Given the description of an element on the screen output the (x, y) to click on. 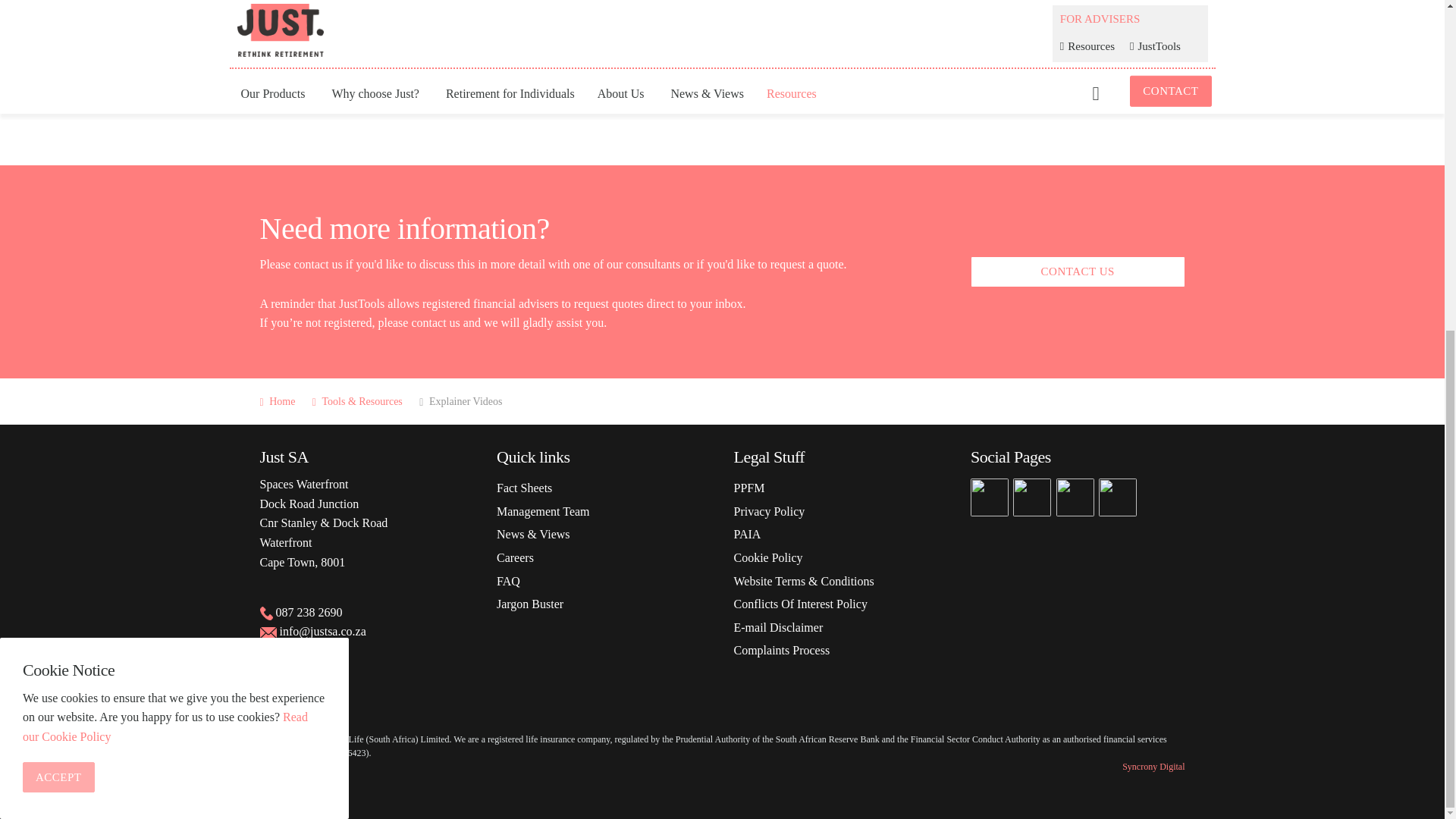
YouTube video player (484, 71)
Contact (435, 322)
YouTube video player (959, 71)
Contact (318, 264)
Cookie Policy (165, 178)
